Given the description of an element on the screen output the (x, y) to click on. 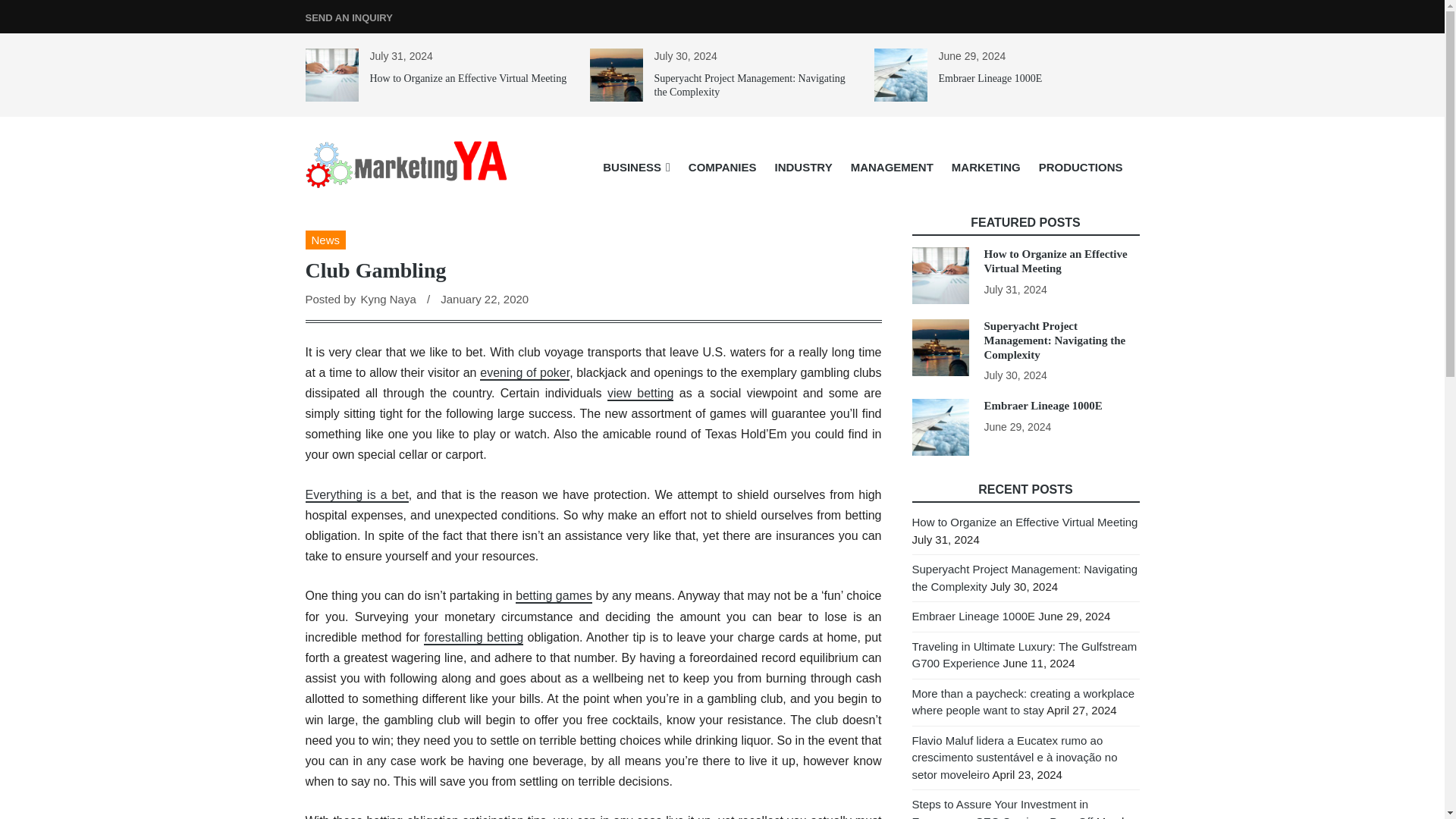
betting games (553, 595)
SEND AN INQUIRY (347, 17)
COMPANIES (722, 167)
News (325, 239)
MANAGEMENT (891, 167)
How to Organize an Effective Virtual Meeting (468, 78)
Kyng Naya (386, 298)
Everything is a bet (355, 495)
forestalling betting (472, 637)
Superyacht Project Management: Navigating the Complexity (748, 84)
view betting (639, 393)
INDUSTRY (803, 167)
Posts by Kyng Naya (386, 298)
Embraer Lineage 1000E (990, 78)
PRODUCTIONS (1080, 167)
